Given the description of an element on the screen output the (x, y) to click on. 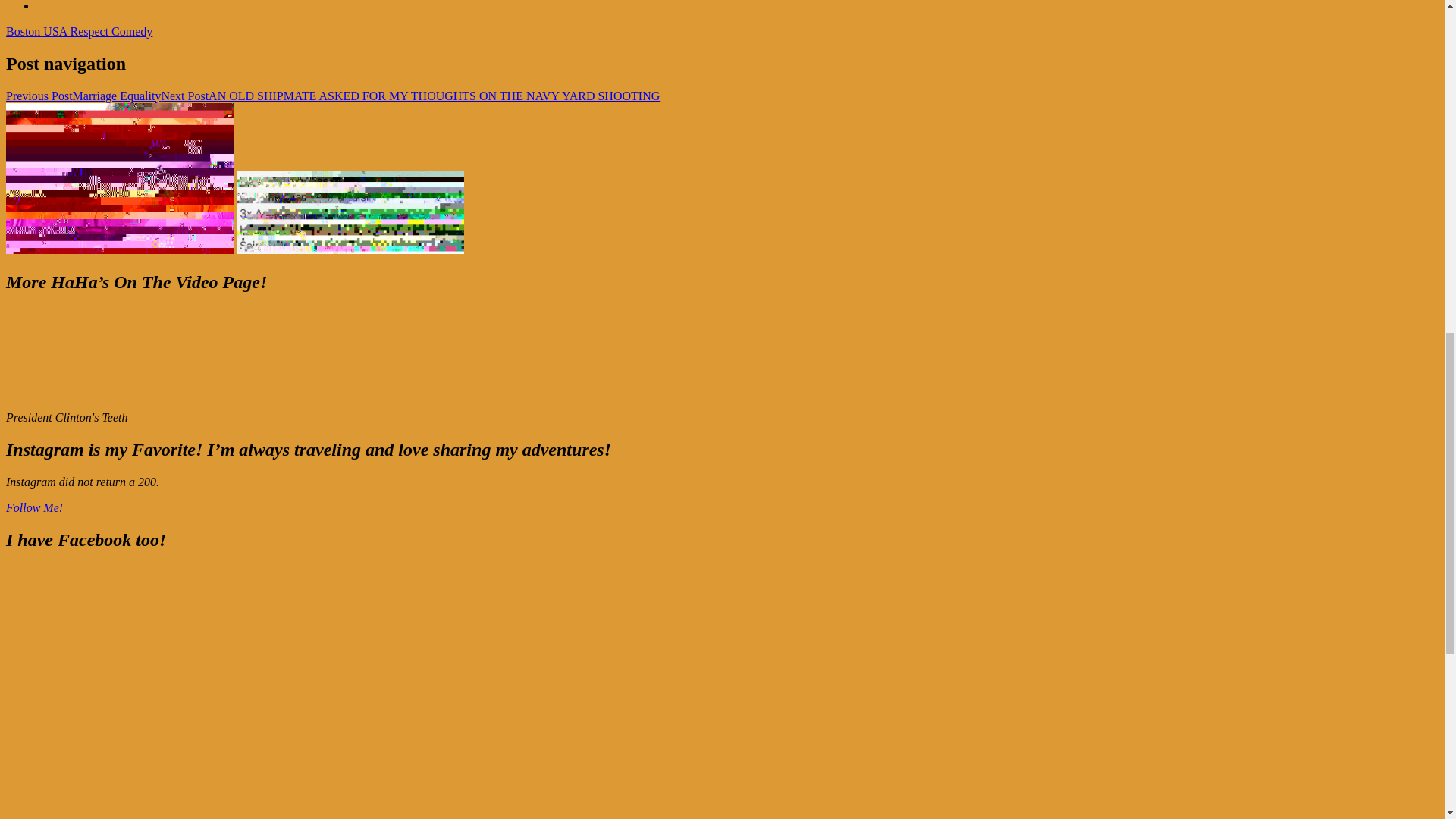
Boston USA Respect Comedy (78, 31)
Previous PostMarriage Equality (82, 95)
